Given the description of an element on the screen output the (x, y) to click on. 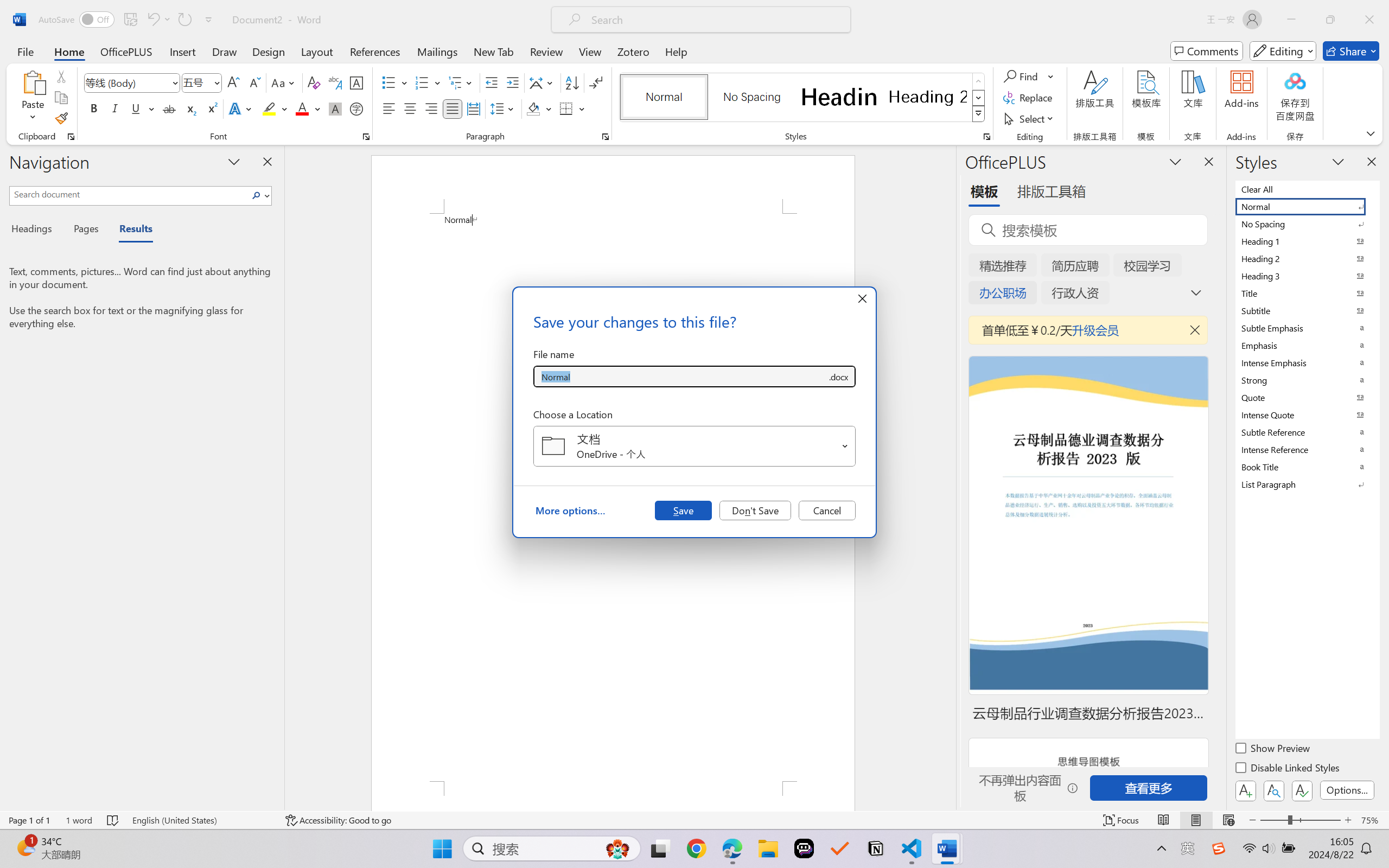
Poe (804, 848)
New Tab (493, 51)
No Spacing (1306, 223)
Bullets (388, 82)
Book Title (1306, 466)
Review (546, 51)
Read Mode (1163, 819)
Heading 3 (1306, 275)
Zoom (1300, 819)
